Given the description of an element on the screen output the (x, y) to click on. 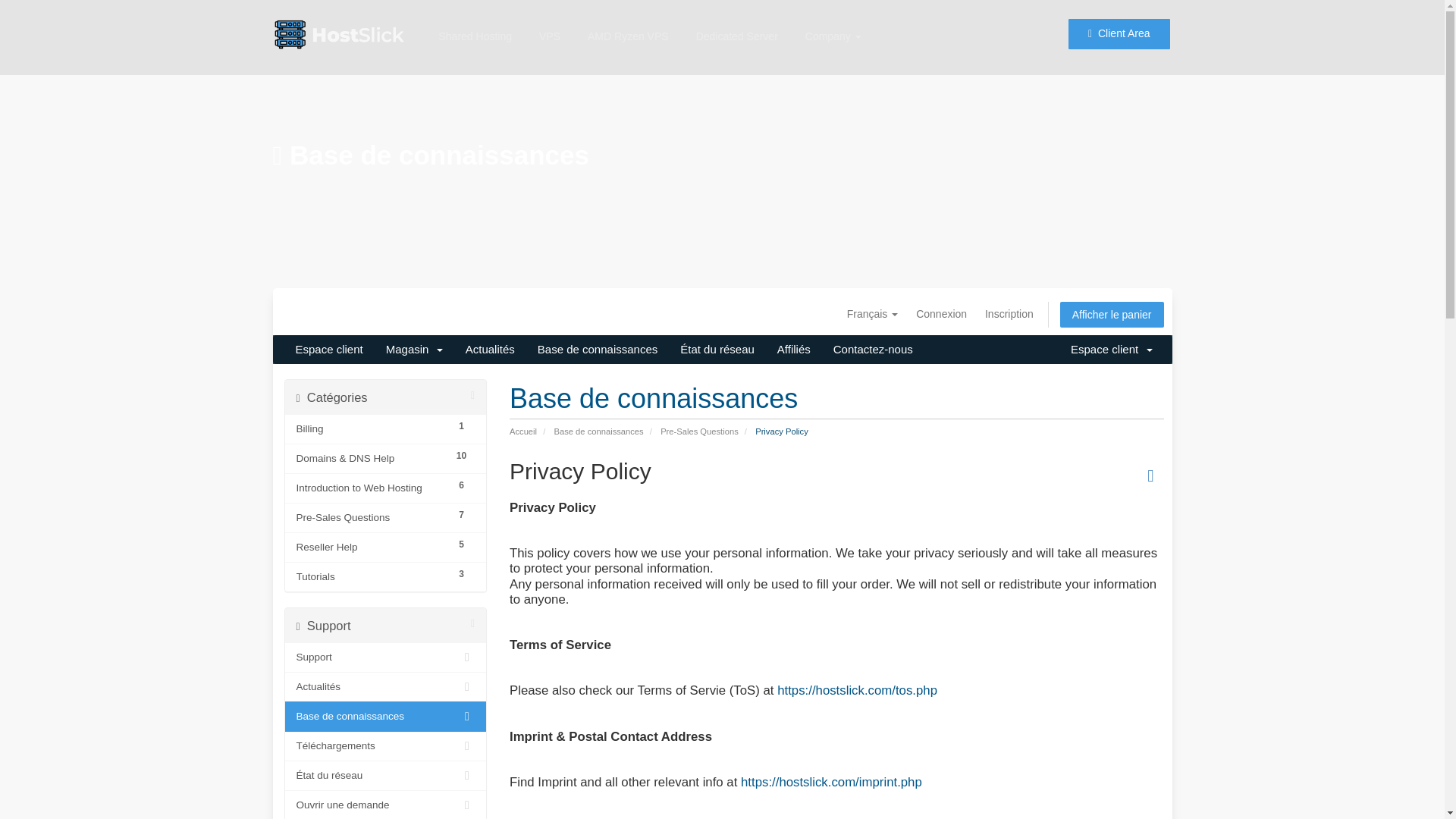
Dedicated Server (737, 20)
AMD Ryzen VPS (627, 18)
Company (833, 22)
Billing (370, 429)
Shared Hosting (475, 12)
VPS (549, 15)
  Client Area (1118, 22)
Tutorials (370, 577)
Reseller Help (370, 547)
  Client Area (1118, 27)
Pre-Sales Questions (370, 517)
Introduction to Web Hosting (370, 488)
